Given the description of an element on the screen output the (x, y) to click on. 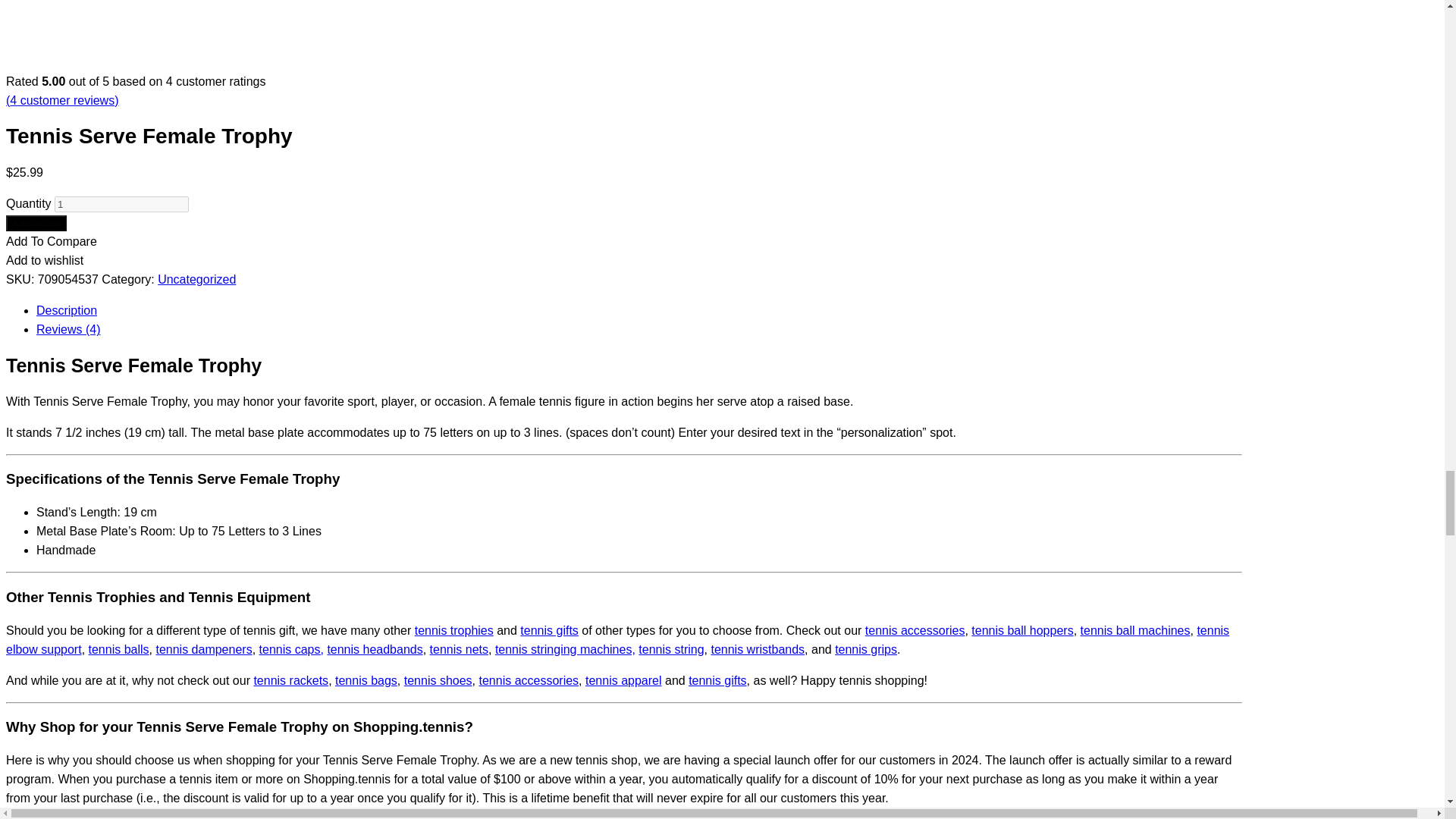
Qty (122, 204)
1 (122, 204)
